Given the description of an element on the screen output the (x, y) to click on. 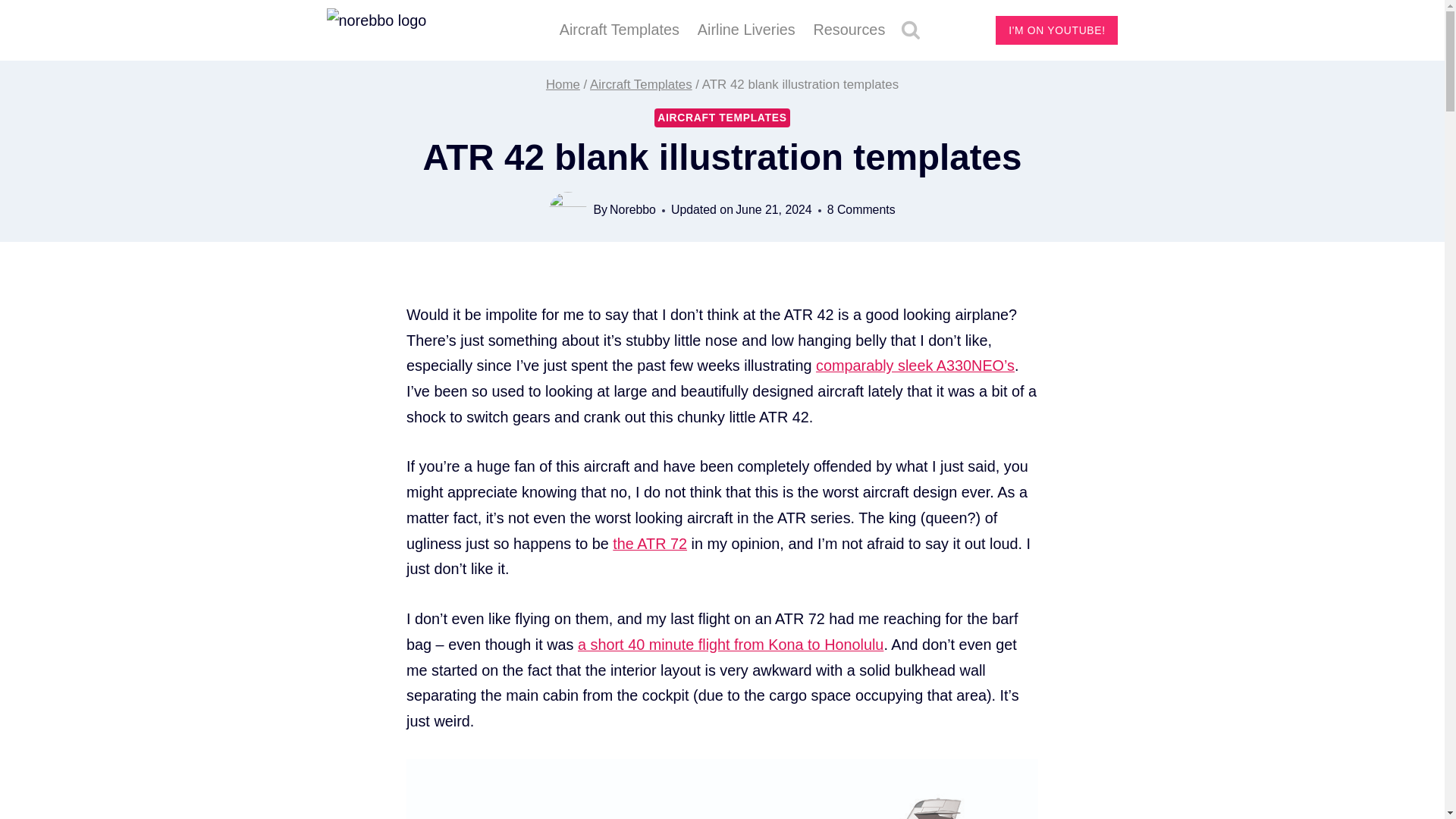
Aircraft Templates (641, 83)
8 Comments (861, 209)
the ATR 72 (649, 543)
Airline Liveries (746, 30)
Aircraft Templates (619, 30)
Norebbo (633, 209)
Home (562, 83)
I'M ON YOUTUBE! (1056, 29)
Resources (850, 30)
AIRCRAFT TEMPLATES (721, 117)
